Given the description of an element on the screen output the (x, y) to click on. 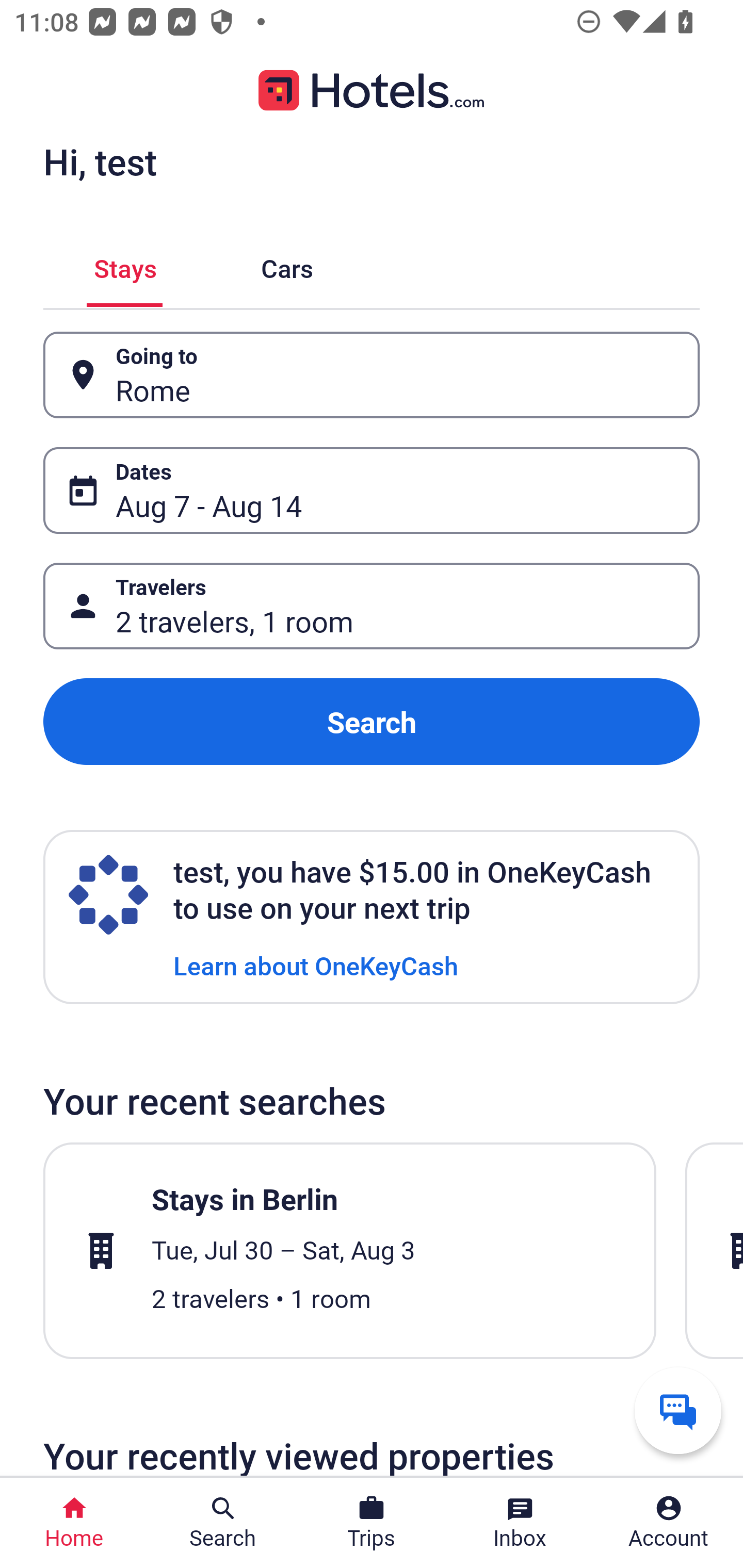
Hi, test (99, 161)
Cars (286, 265)
Going to Button Rome (371, 375)
Dates Button Aug 7 - Aug 14 (371, 489)
Travelers Button 2 travelers, 1 room (371, 605)
Search (371, 721)
Learn about OneKeyCash Learn about OneKeyCash Link (315, 964)
Get help from a virtual agent (677, 1410)
Search Search Button (222, 1522)
Trips Trips Button (371, 1522)
Inbox Inbox Button (519, 1522)
Account Profile. Button (668, 1522)
